Given the description of an element on the screen output the (x, y) to click on. 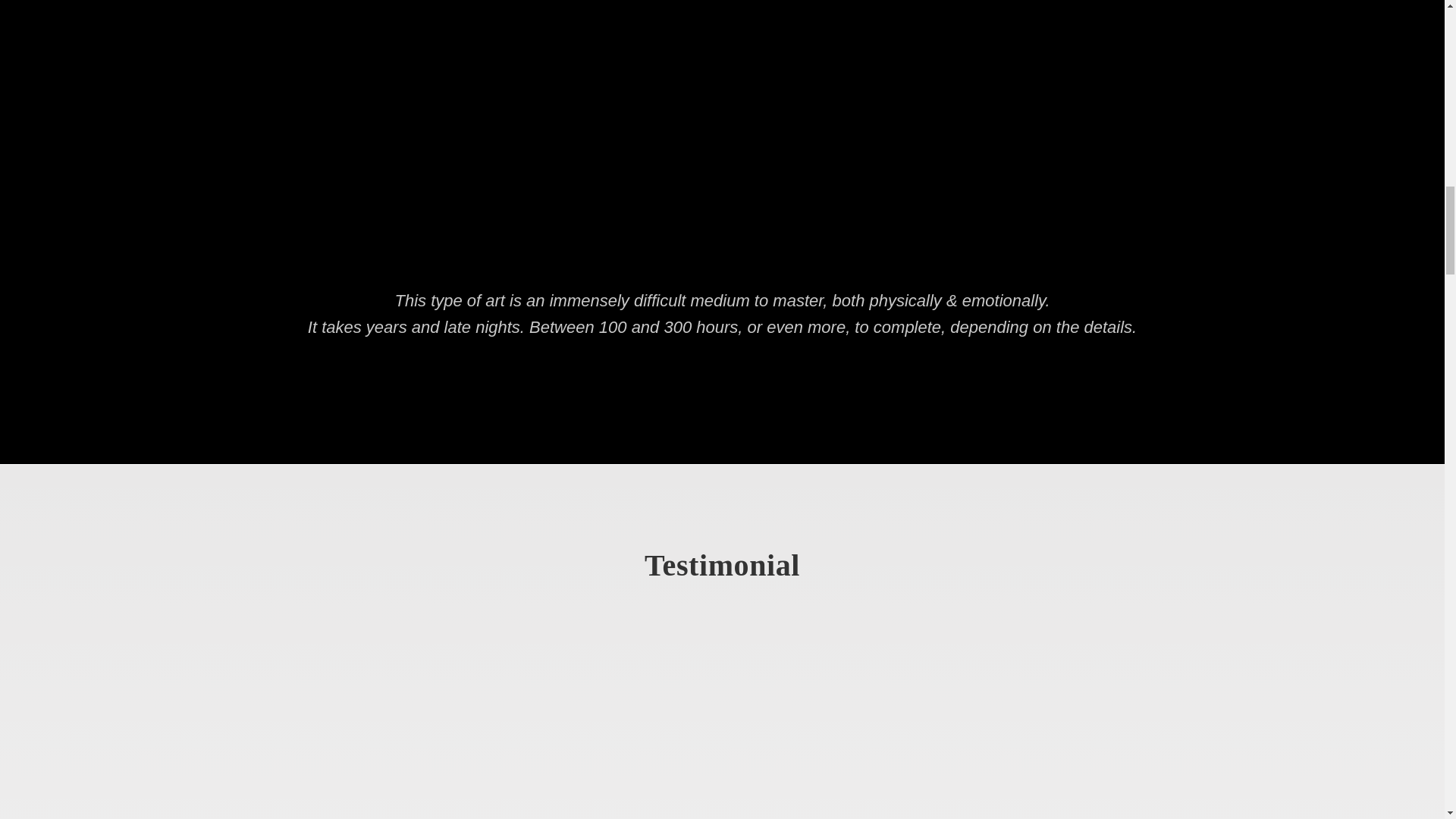
John BENATOUIL (1153, 726)
Nicolas Goldstein (722, 726)
Lionel copys (290, 726)
